Given the description of an element on the screen output the (x, y) to click on. 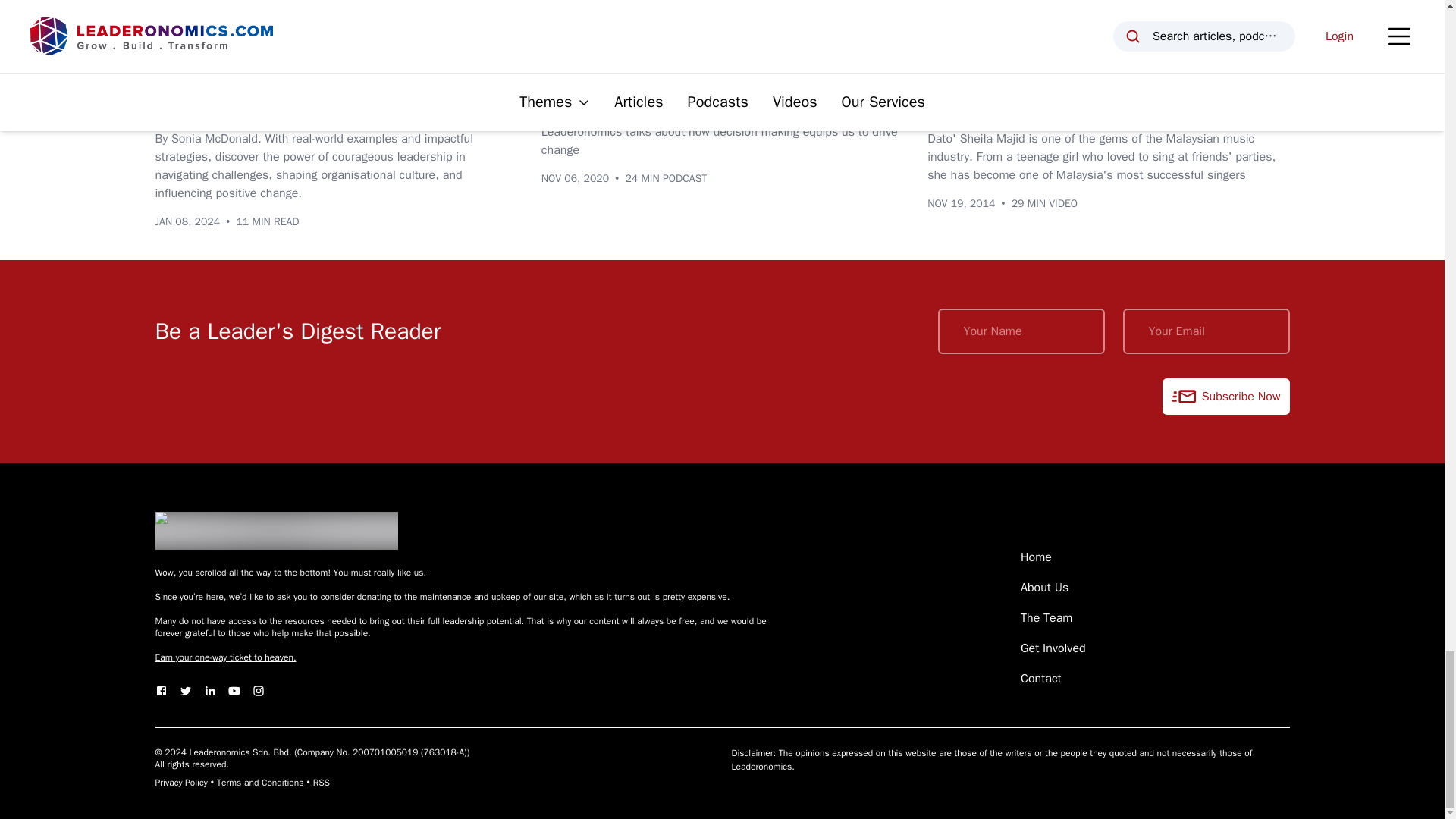
Leadership (648, 49)
Article (181, 49)
Leadership (253, 49)
Podcast (572, 49)
